Given the description of an element on the screen output the (x, y) to click on. 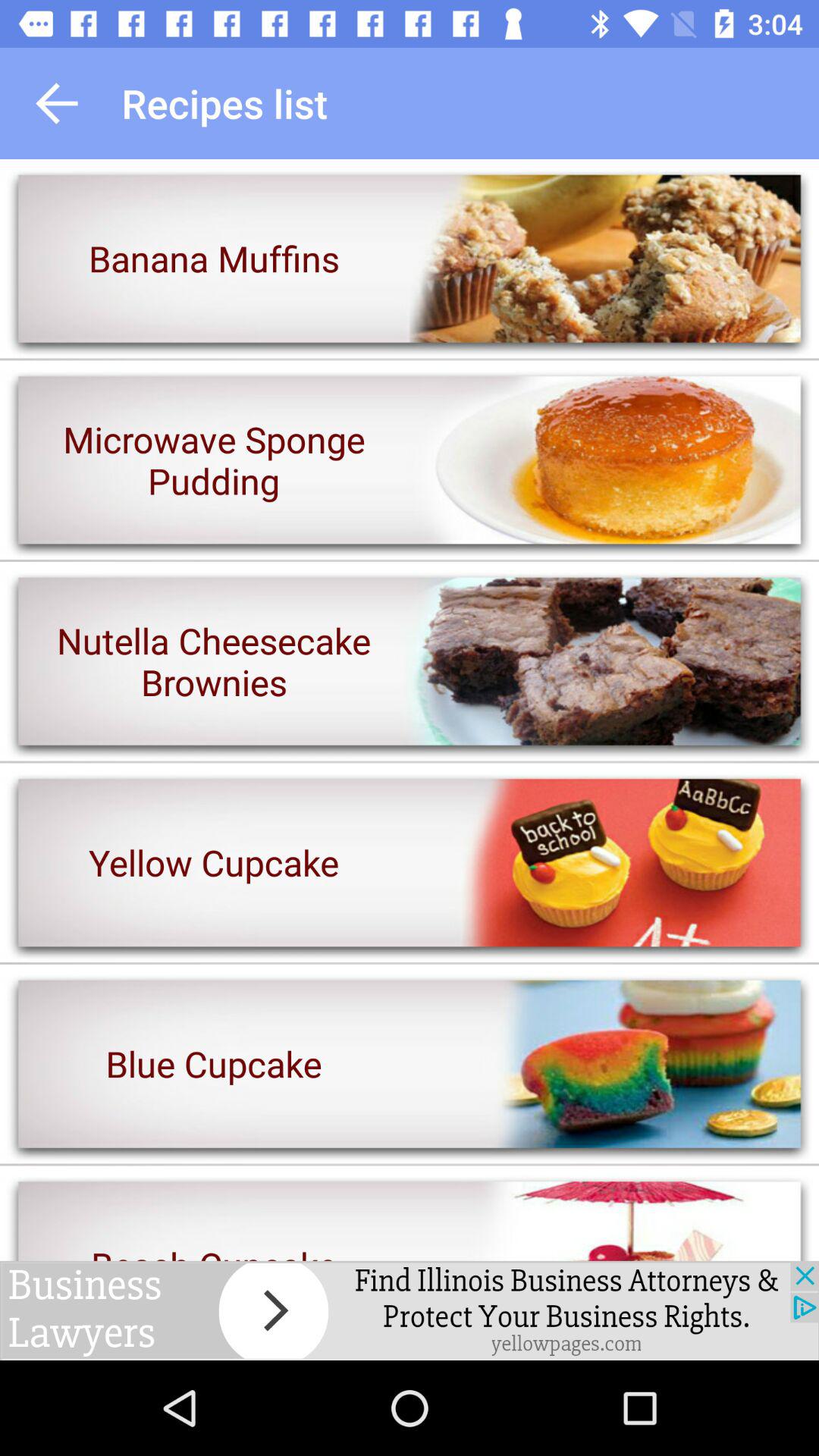
previous button (56, 103)
